Given the description of an element on the screen output the (x, y) to click on. 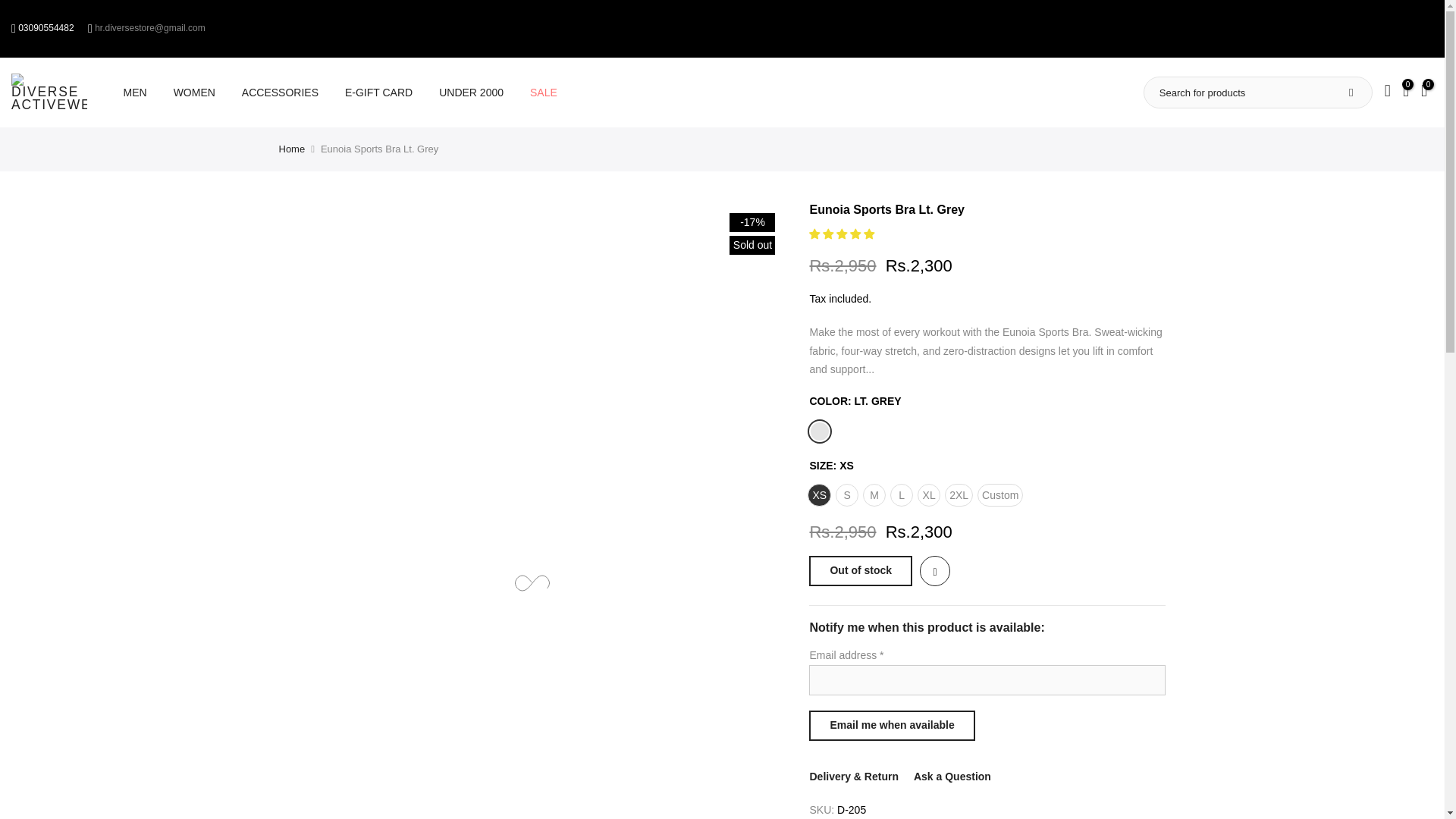
ACCESSORIES (279, 92)
Ask a Question (952, 776)
Email me when available (891, 725)
Out of stock (860, 571)
Home (292, 149)
WOMEN (194, 92)
03090554482 (46, 27)
Email me when available (891, 725)
E-GIFT CARD (378, 92)
0 (1405, 92)
